Given the description of an element on the screen output the (x, y) to click on. 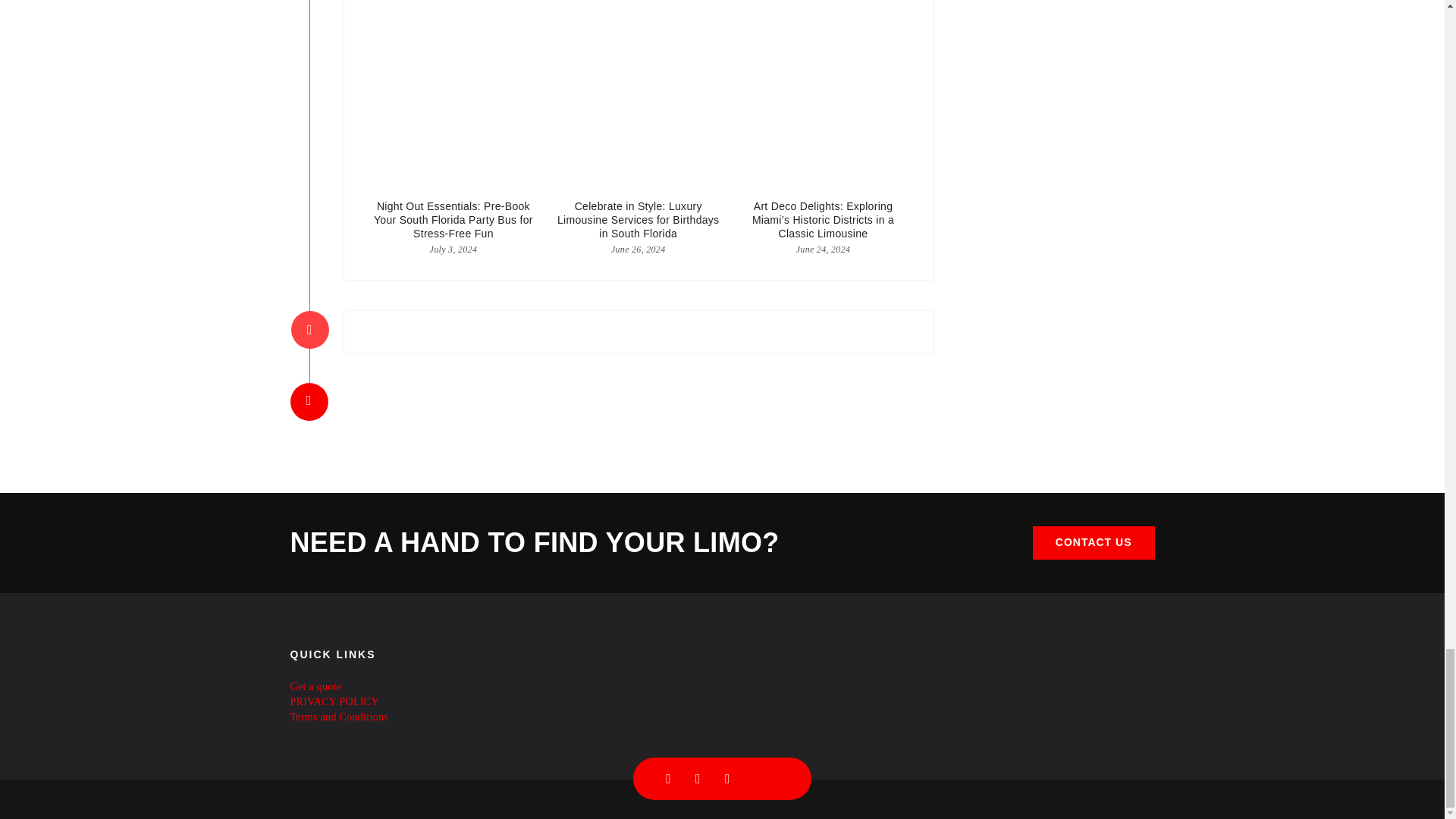
button (1093, 542)
